Given the description of an element on the screen output the (x, y) to click on. 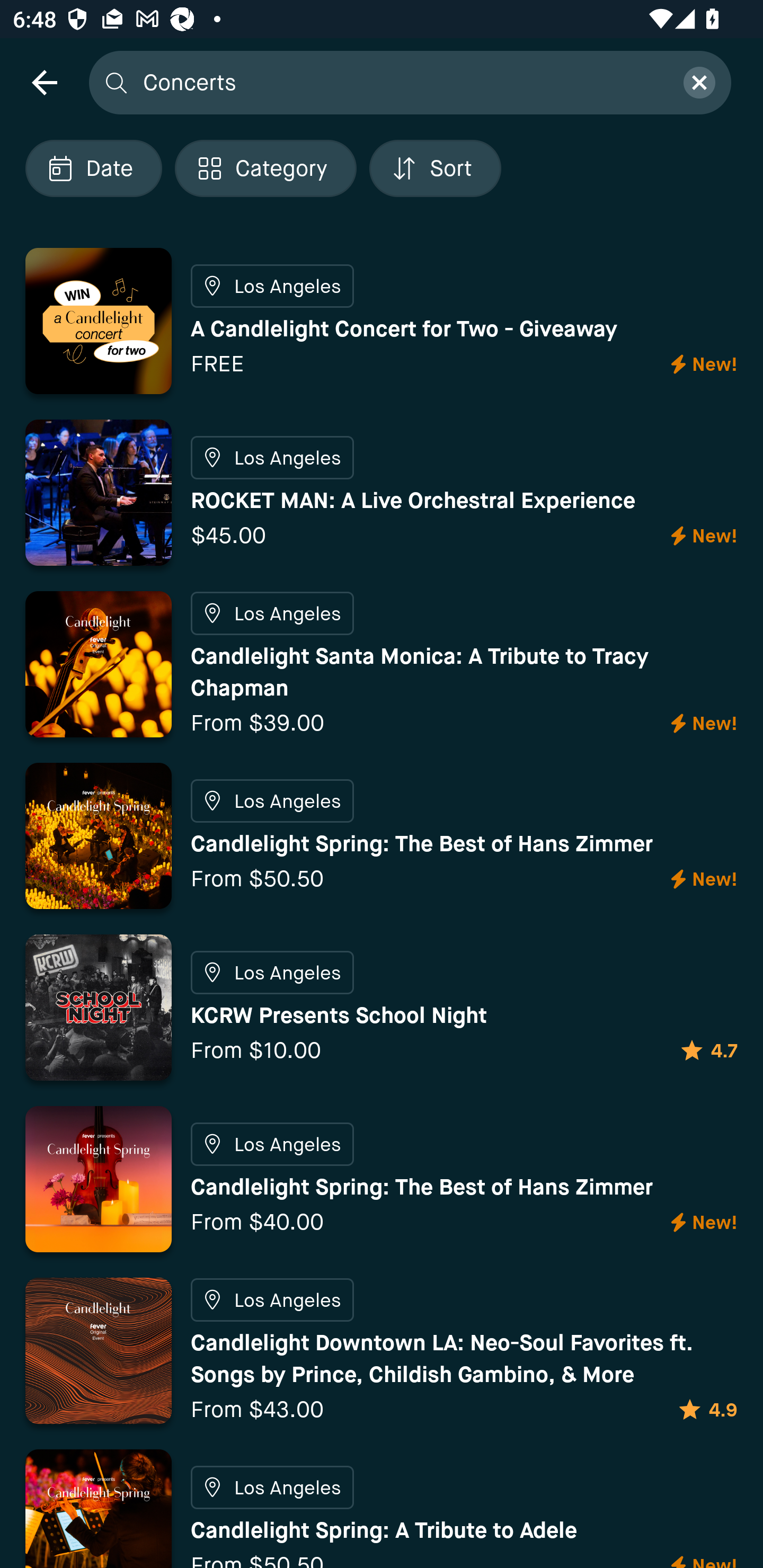
navigation icon (44, 81)
Concerts (402, 81)
Localized description Date (93, 168)
Localized description Category (265, 168)
Localized description Sort (435, 168)
